Given the description of an element on the screen output the (x, y) to click on. 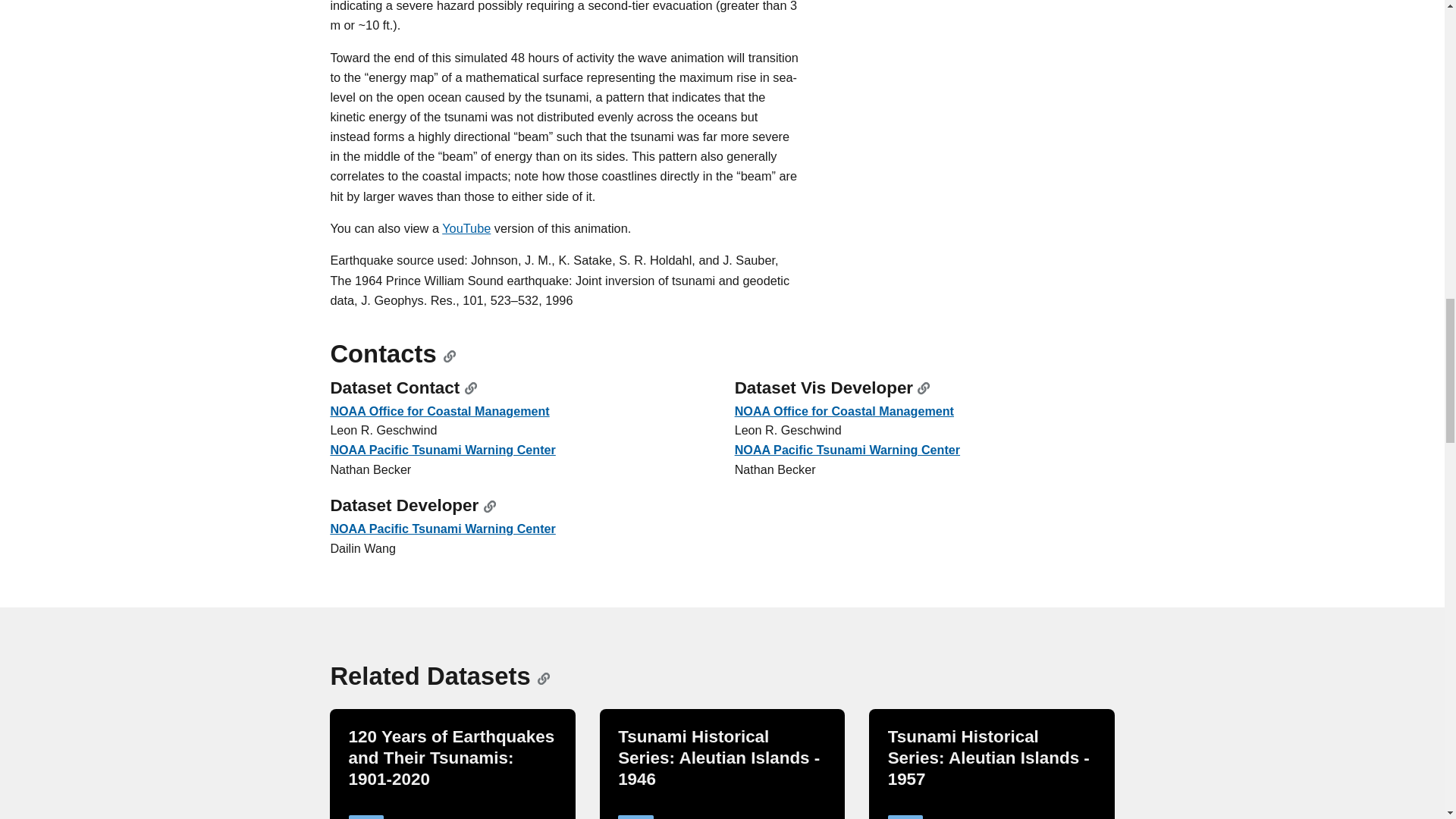
NOAA Pacific Tsunami Warning Center (442, 449)
NOAA Pacific Tsunami Warning Center (442, 528)
120 Years of Earthquakes and Their Tsunamis: 1901-2020 (451, 757)
YouTube (466, 228)
Tsunami Historical Series: Aleutian Islands - 1946 (718, 757)
Tsunami Historical Series: Aleutian Islands - 1957 (988, 757)
NOAA Office for Coastal Management (439, 410)
NOAA Pacific Tsunami Warning Center (847, 449)
NOAA Office for Coastal Management (844, 410)
